Given the description of an element on the screen output the (x, y) to click on. 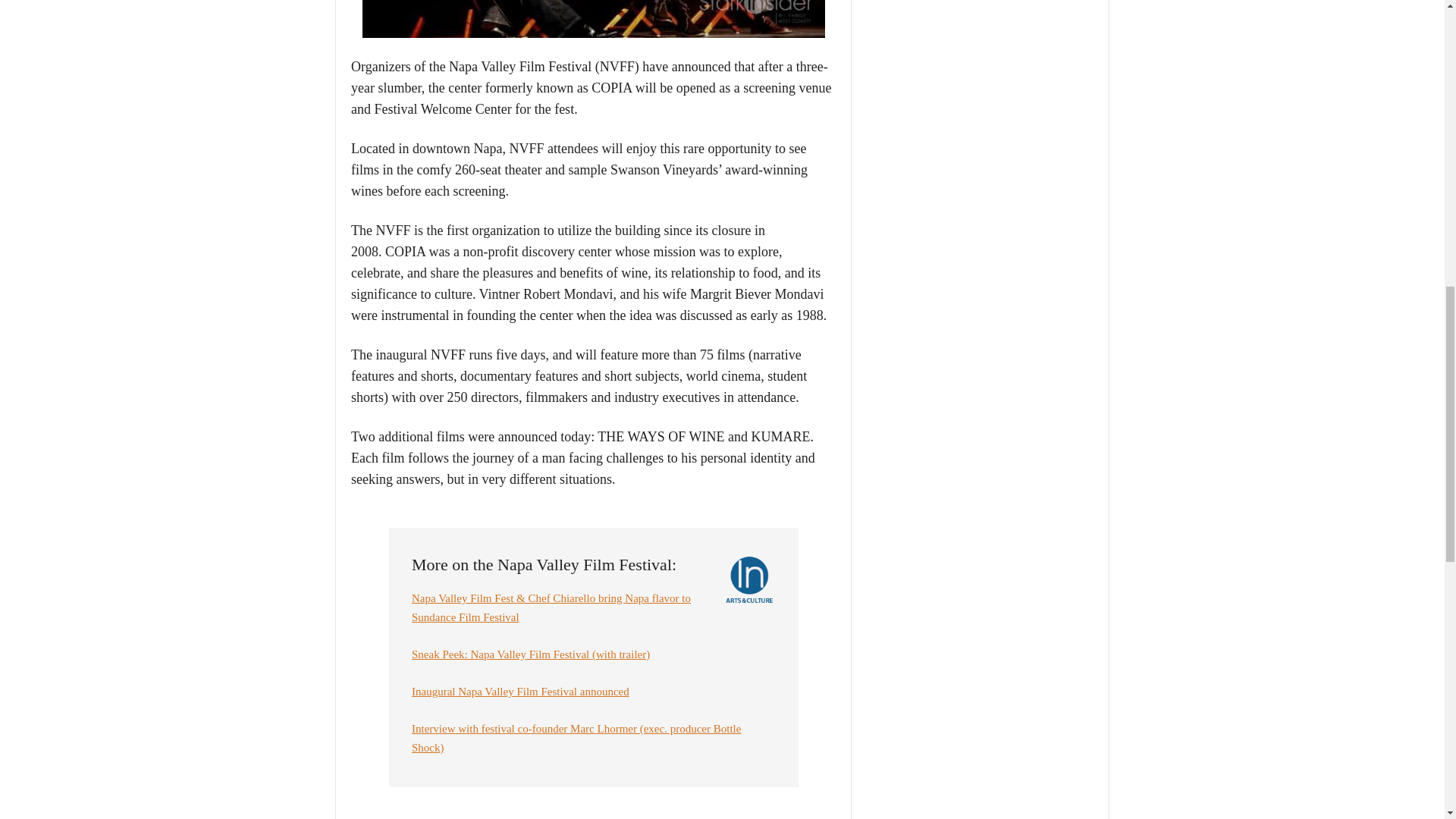
Napa Valley Film Festival (593, 18)
Inaugural Napa Valley Film Festival announced (520, 691)
